Given the description of an element on the screen output the (x, y) to click on. 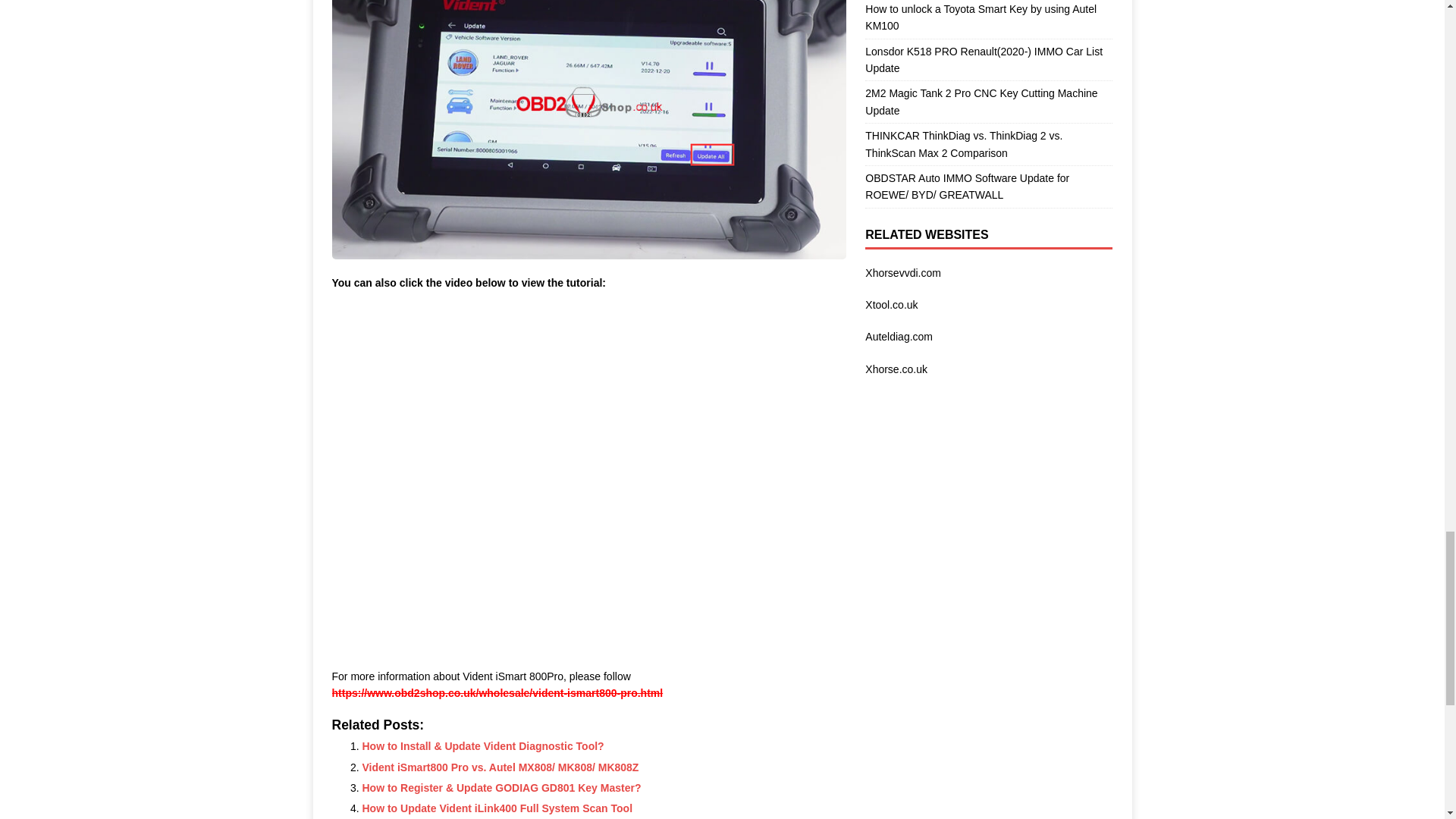
How to Update Vident iLink400 Full System Scan Tool (497, 808)
How to Update Vident iLink400 Full System Scan Tool (497, 808)
